Given the description of an element on the screen output the (x, y) to click on. 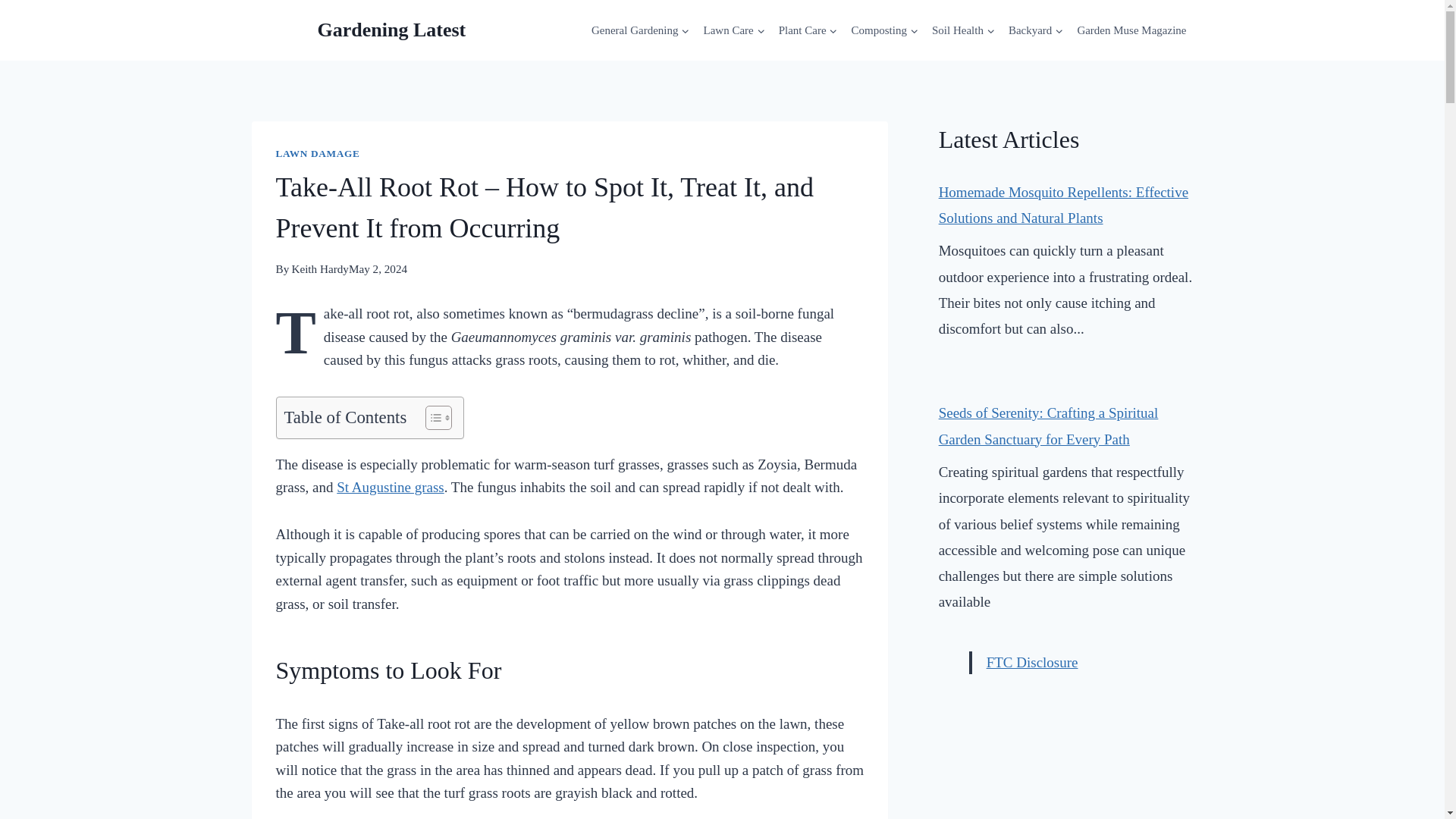
Garden Muse Magazine (1131, 29)
Lawn Care (733, 29)
Composting (884, 29)
General Gardening (641, 29)
Backyard (1035, 29)
LAWN DAMAGE (317, 153)
Plant Care (807, 29)
Keith Hardy (320, 268)
Soil Health (962, 29)
Gardening Latest (358, 30)
